Given the description of an element on the screen output the (x, y) to click on. 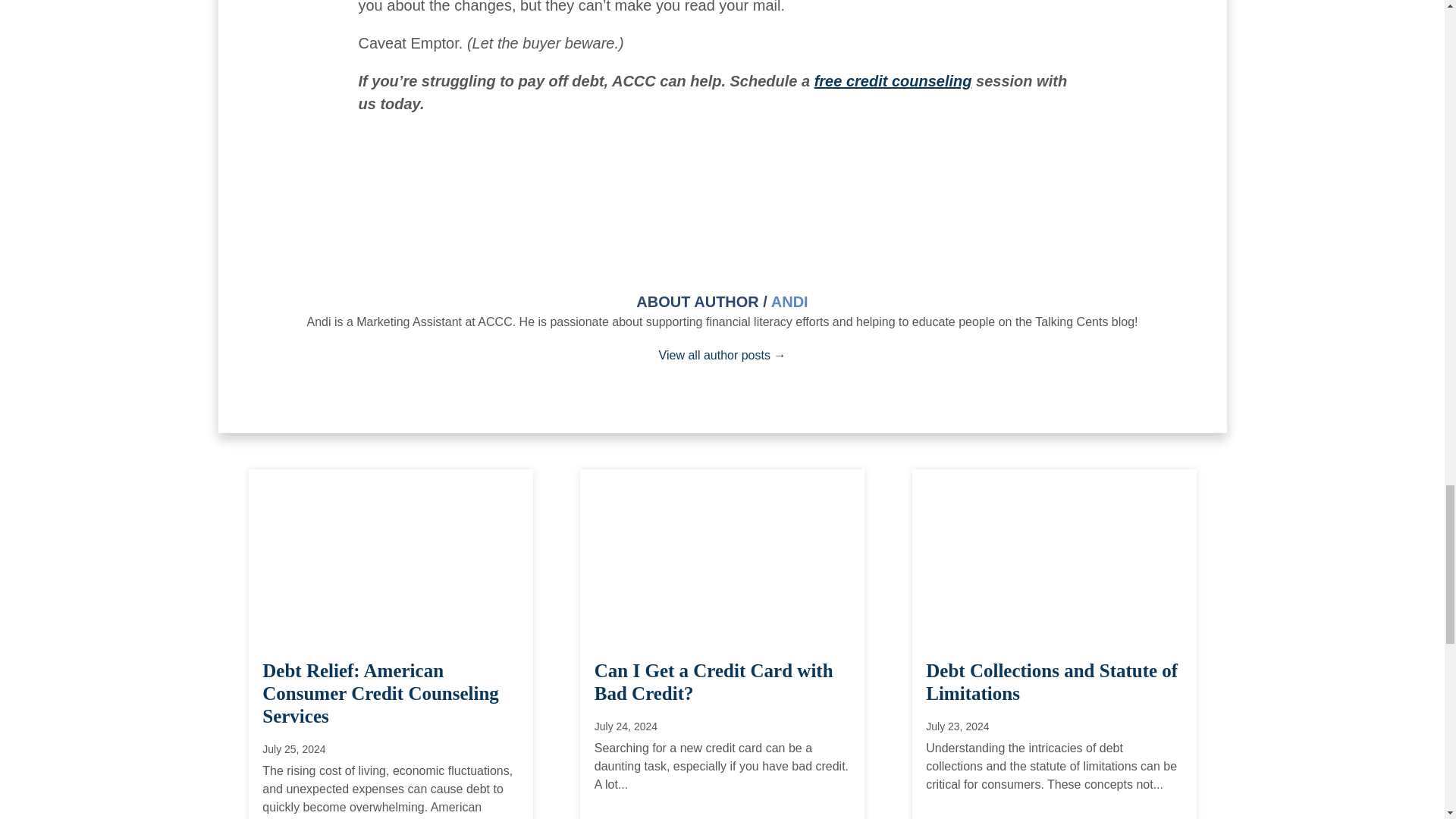
free credit counseling (892, 80)
View all author posts (722, 354)
